Given the description of an element on the screen output the (x, y) to click on. 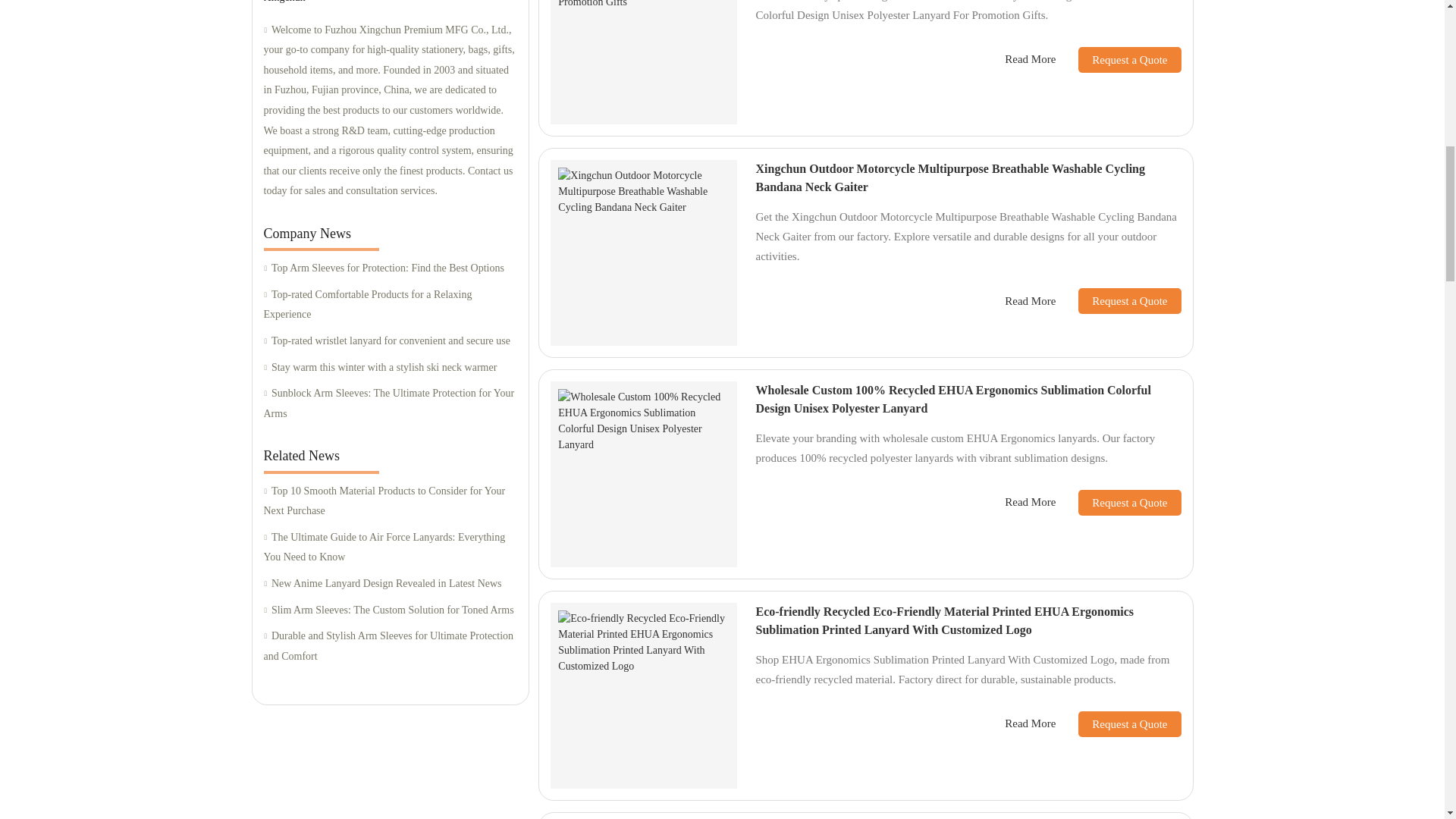
Request a Quote (1117, 59)
New Anime Lanyard Design Revealed in Latest News (389, 584)
Slim Arm Sleeves: The Custom Solution for Toned Arms (389, 610)
Sunblock Arm Sleeves: The Ultimate Protection for Your Arms (389, 404)
Stay warm this winter with a stylish ski neck warmer (389, 367)
Top Arm Sleeves for Protection: Find the Best Options (389, 268)
Top-rated wristlet lanyard for convenient and secure use (389, 341)
Top-rated Comfortable Products for a Relaxing Experience (389, 305)
Read More (1029, 58)
